Given the description of an element on the screen output the (x, y) to click on. 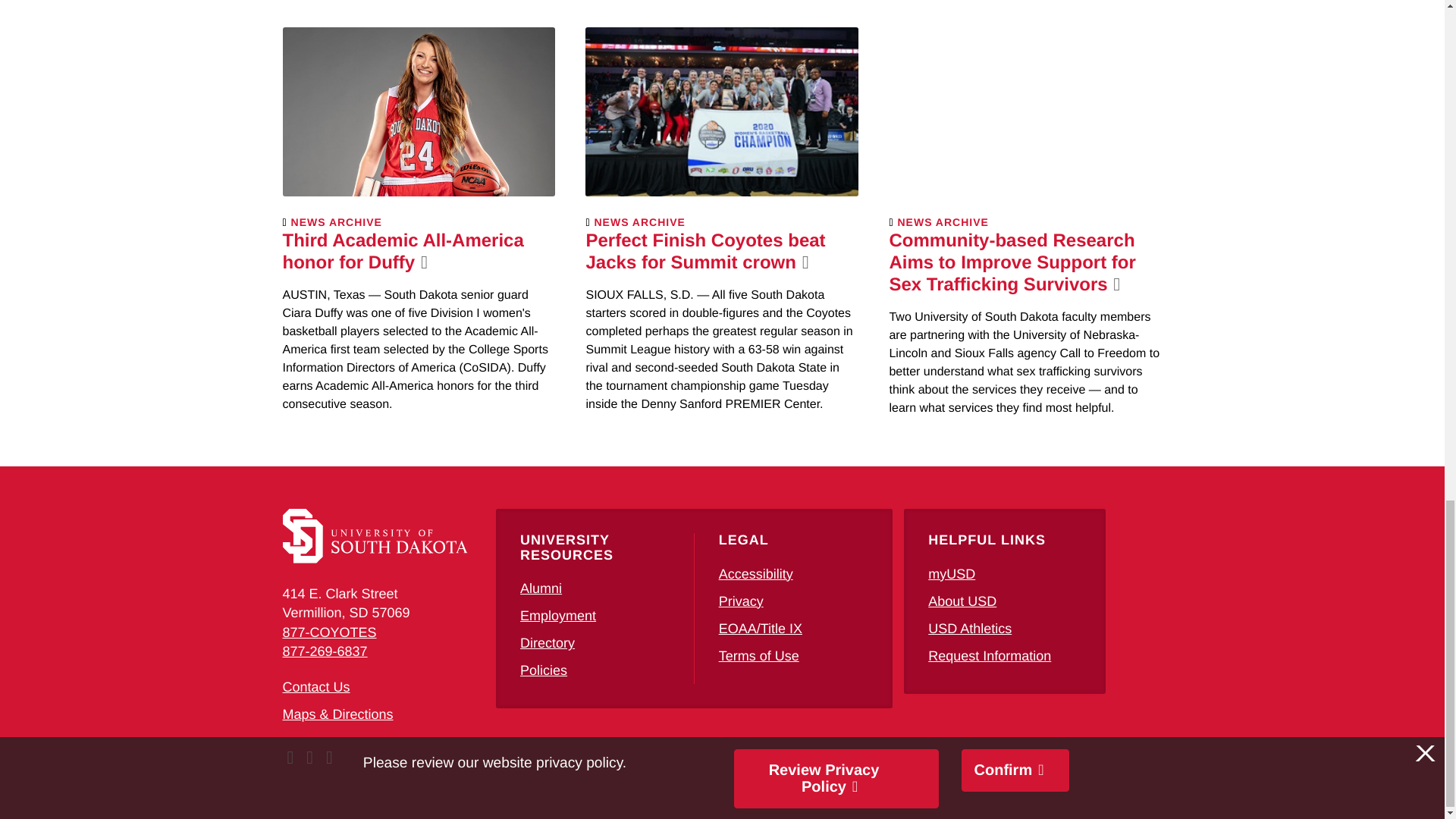
Accessibility (756, 573)
Employment (557, 615)
USD Alumni (540, 588)
Request Information (989, 655)
MyUSD Portal Homepage (951, 573)
Privacy (740, 601)
Faculty and Staff Directory (547, 642)
USD Athletics site (969, 628)
USD Policies (543, 670)
About USD (961, 601)
USD Terms of Use (759, 655)
